Given the description of an element on the screen output the (x, y) to click on. 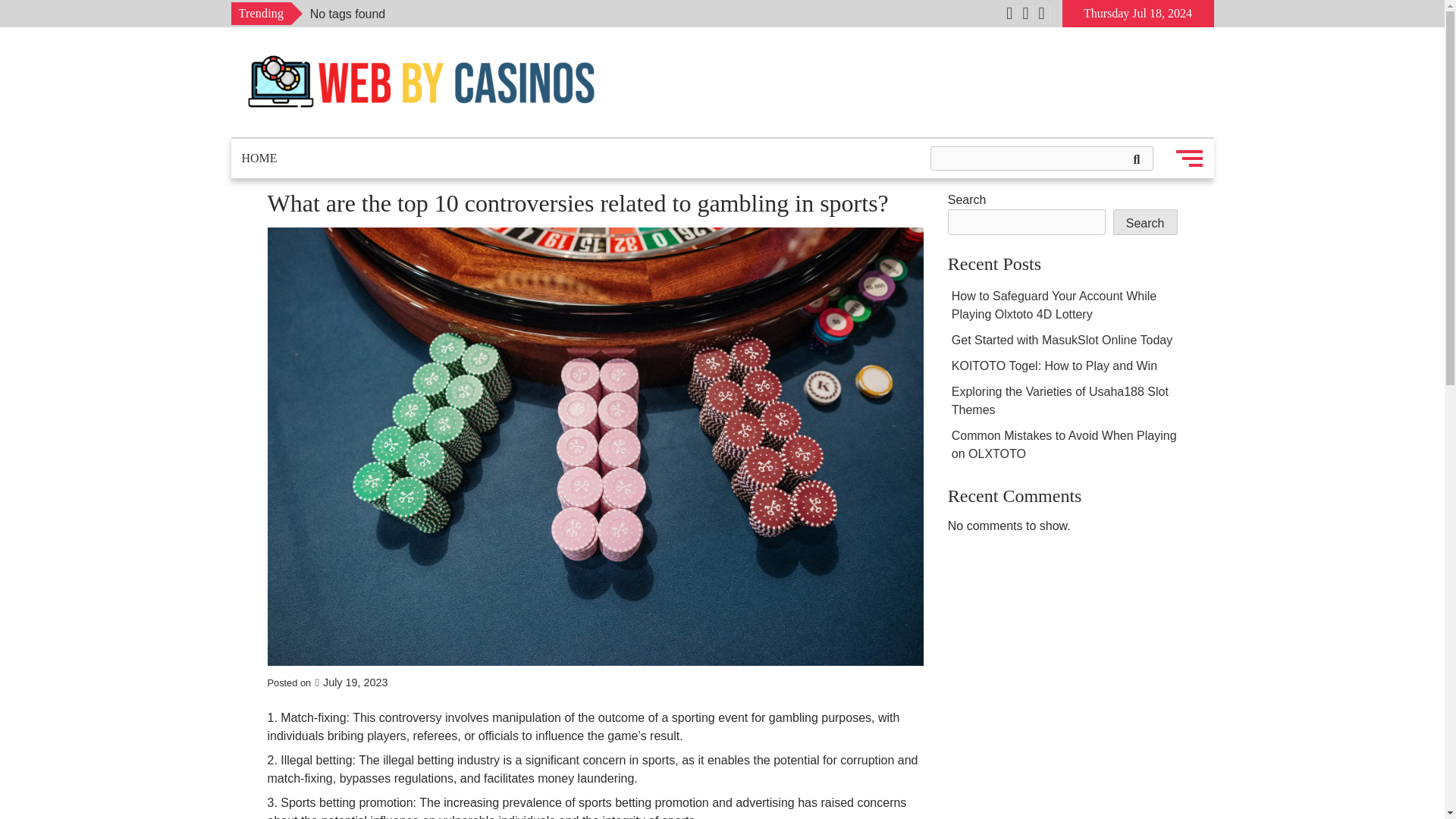
Search (1145, 222)
Exploring the Varieties of Usaha188 Slot Themes (1060, 400)
KOITOTO Togel: How to Play and Win (1054, 365)
Webby Casinos (333, 134)
HOME (258, 158)
Get Started with MasukSlot Online Today (1062, 339)
Common Mistakes to Avoid When Playing on OLXTOTO (1064, 444)
July 19, 2023 (351, 682)
